Given the description of an element on the screen output the (x, y) to click on. 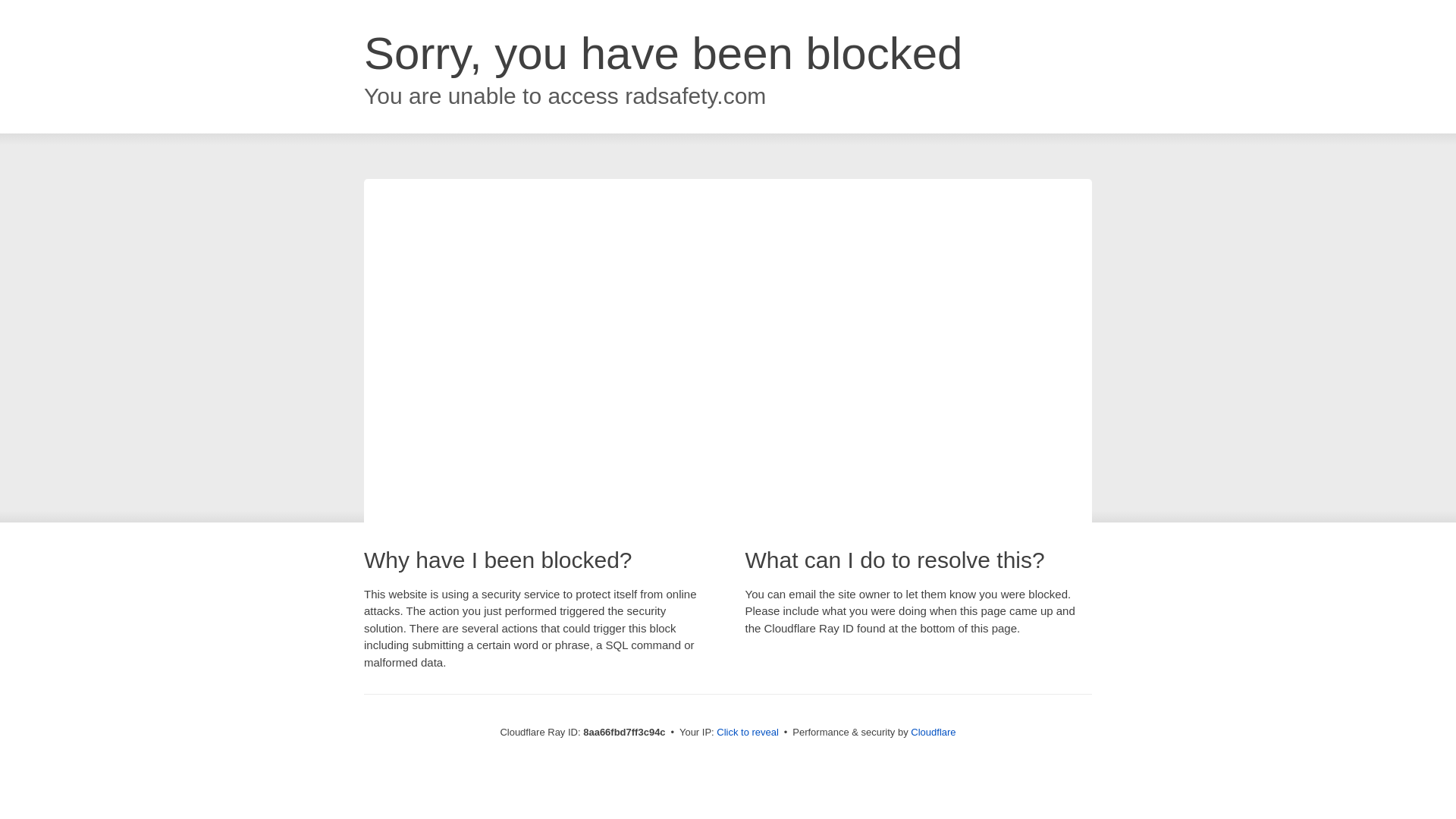
Click to reveal (747, 732)
Cloudflare (933, 731)
